Given the description of an element on the screen output the (x, y) to click on. 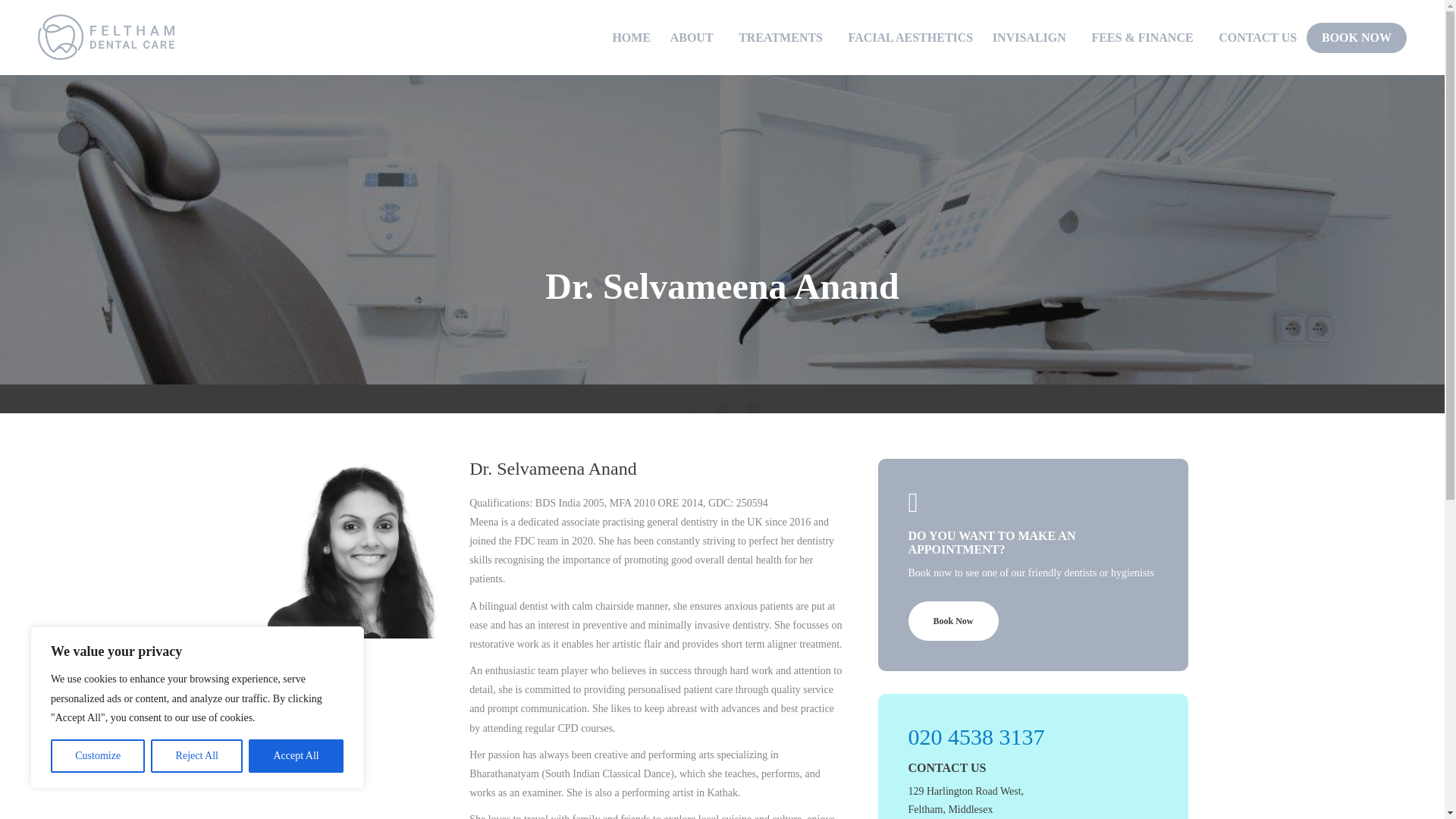
FACIAL AESTHETICS (911, 38)
INVISALIGN (1031, 38)
Dr. Selvameena Anand Feltham Dental Care (356, 548)
Customize (97, 756)
Reject All (197, 756)
Accept All (295, 756)
TREATMENTS (783, 38)
